Given the description of an element on the screen output the (x, y) to click on. 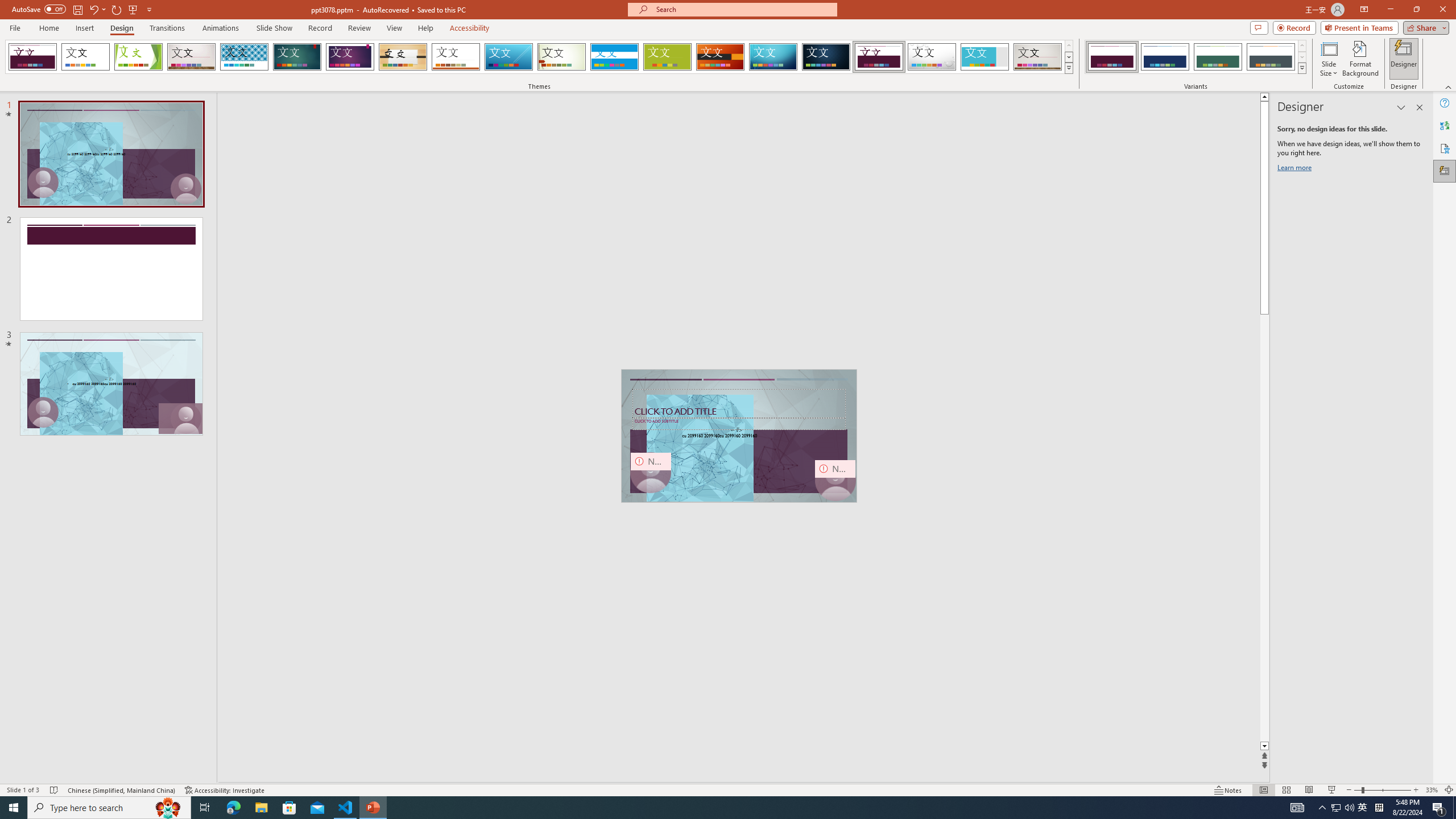
Zoom Out (1357, 790)
Notes  (1227, 790)
Zoom 33% (1431, 790)
Slice (508, 56)
Frame (984, 56)
Dividend (879, 56)
Dividend Variant 3 (1217, 56)
Slide (111, 383)
Accessibility (1444, 147)
Spell Check No Errors (54, 790)
Present in Teams (1359, 27)
Dividend Variant 1 (1112, 56)
Line up (1264, 96)
